Given the description of an element on the screen output the (x, y) to click on. 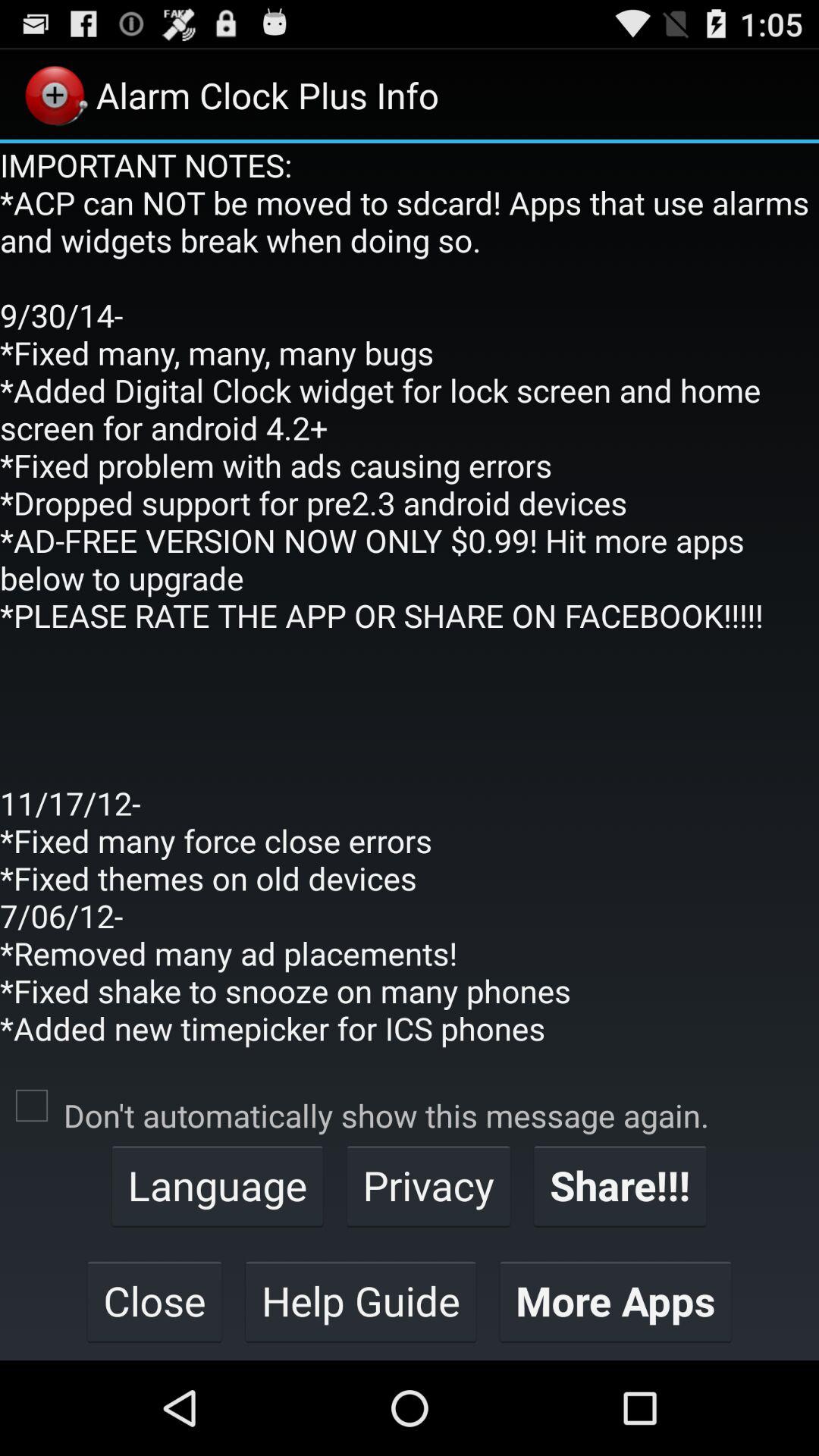
tap button above help guide item (428, 1185)
